Given the description of an element on the screen output the (x, y) to click on. 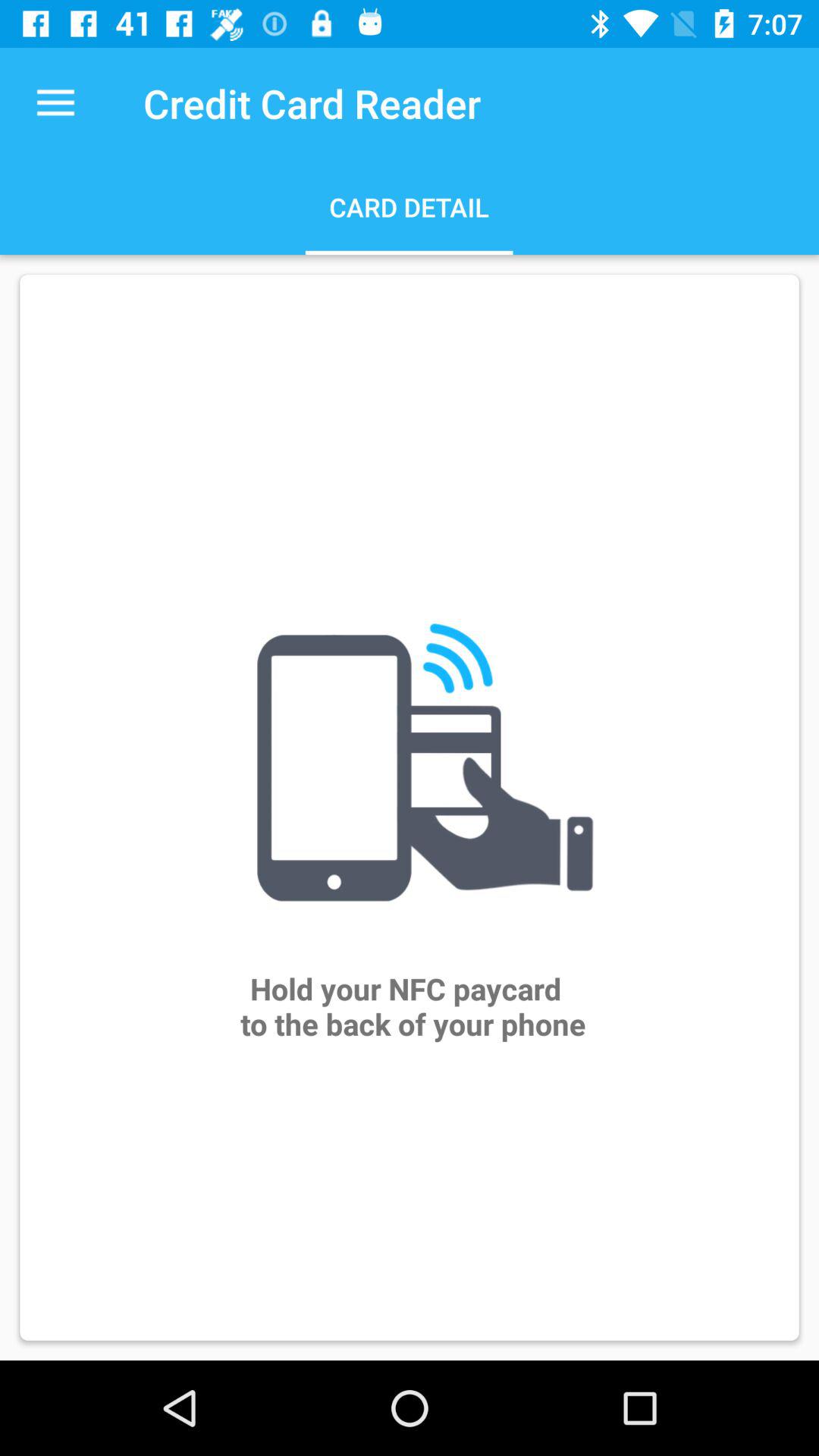
click the item next to the credit card reader item (55, 103)
